Given the description of an element on the screen output the (x, y) to click on. 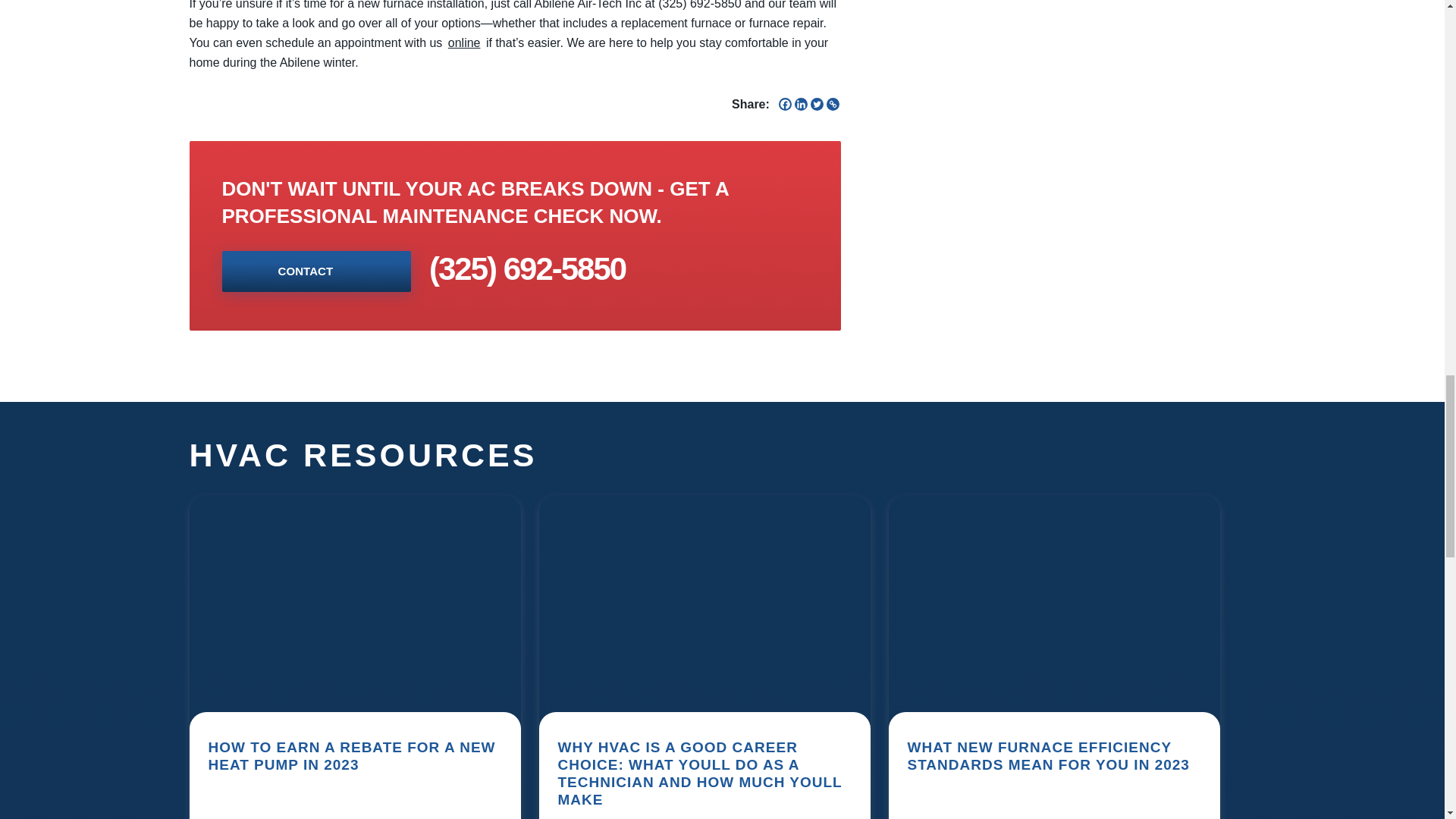
Twitter (817, 103)
Facebook (785, 103)
Copy Link (833, 103)
Linkedin (801, 103)
